Given the description of an element on the screen output the (x, y) to click on. 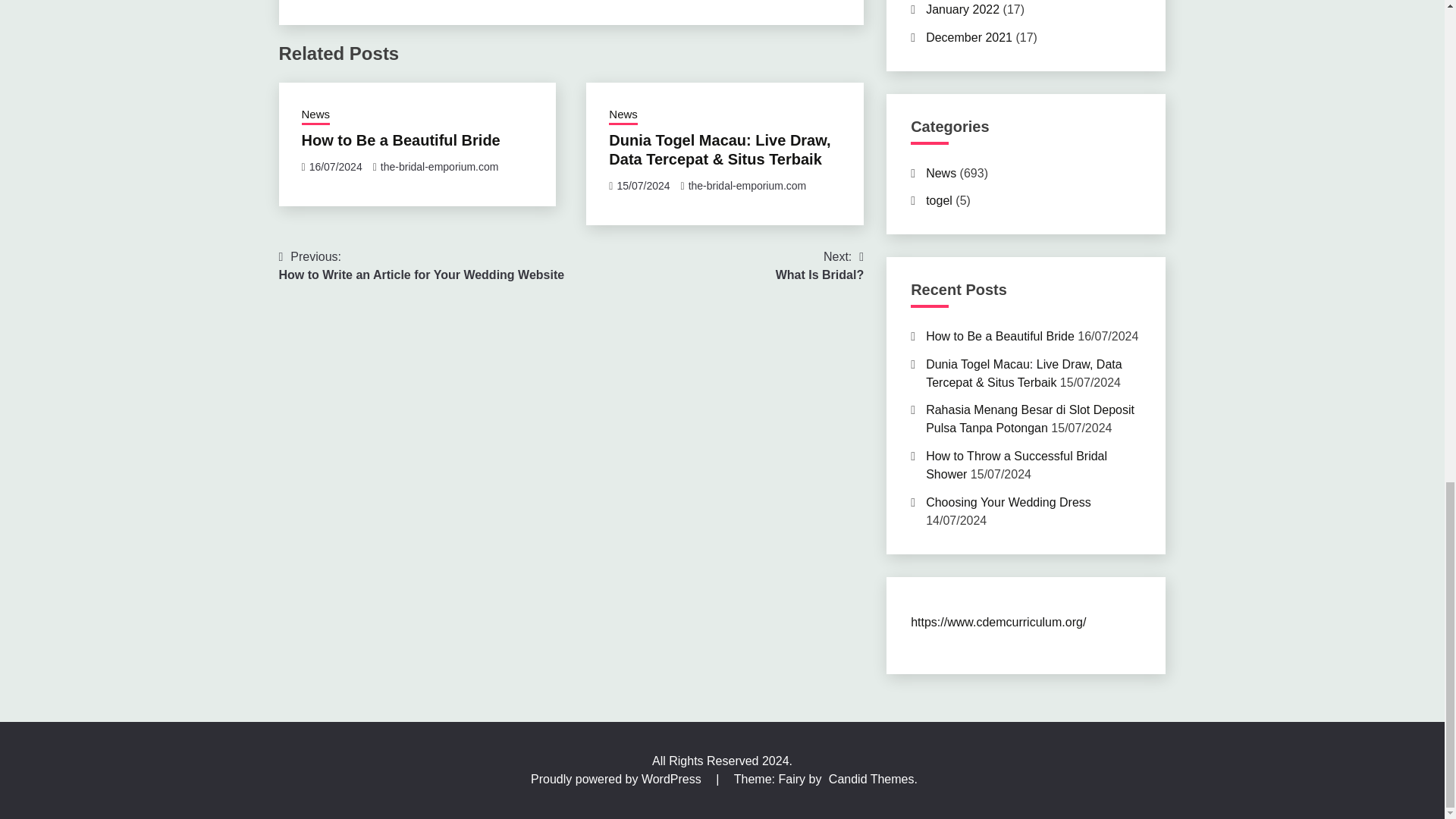
News (622, 116)
the-bridal-emporium.com (439, 166)
News (421, 266)
the-bridal-emporium.com (315, 116)
How to Be a Beautiful Bride (747, 185)
